Given the description of an element on the screen output the (x, y) to click on. 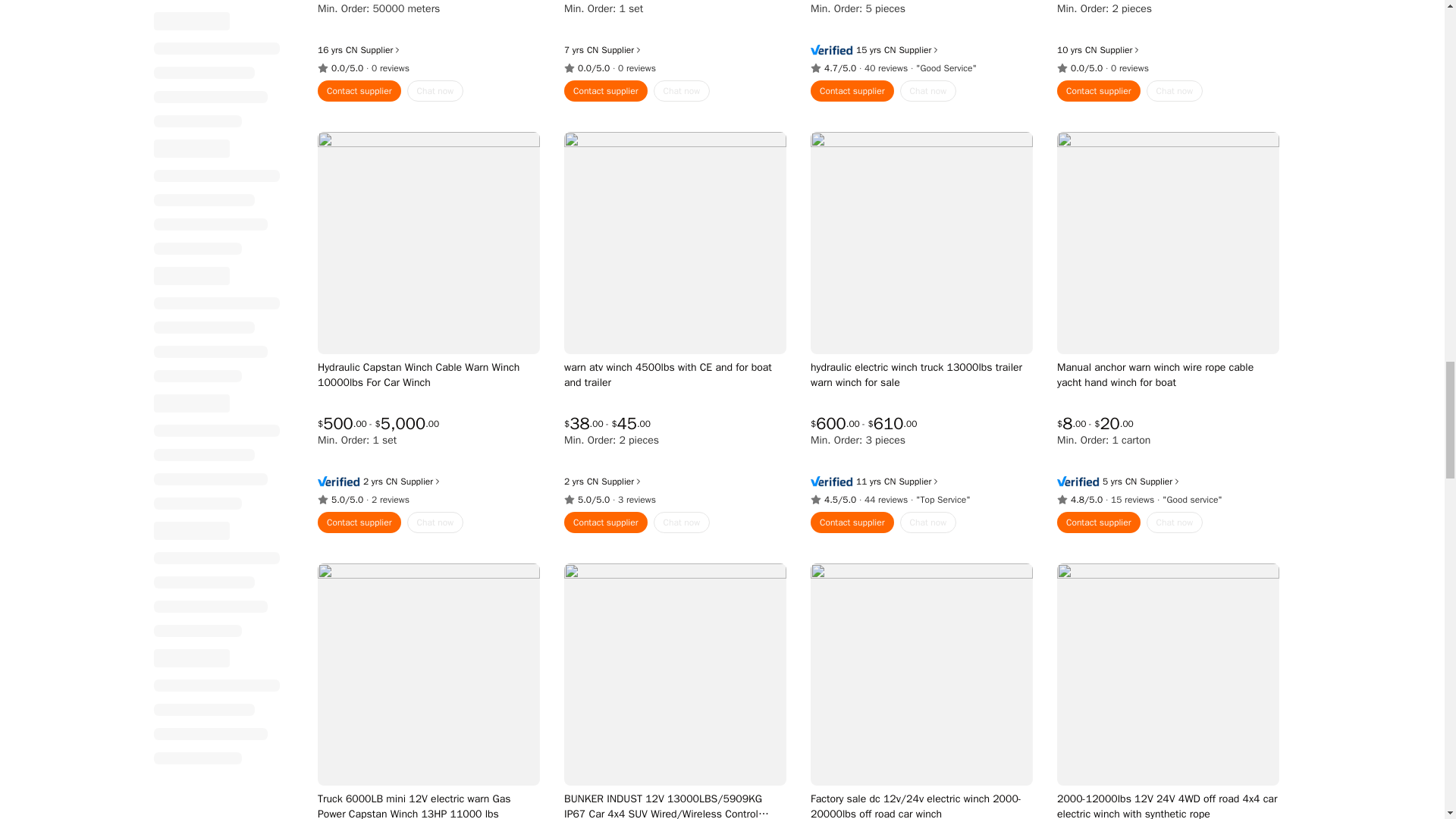
Zhejiang Four Brothers Rope Co., Ltd. (351, 28)
Henan Tiwin Machinery Equipment Co., Ltd. (591, 28)
Guangzhou Unity 4WD Accessories Co., Limited (889, 28)
